Given the description of an element on the screen output the (x, y) to click on. 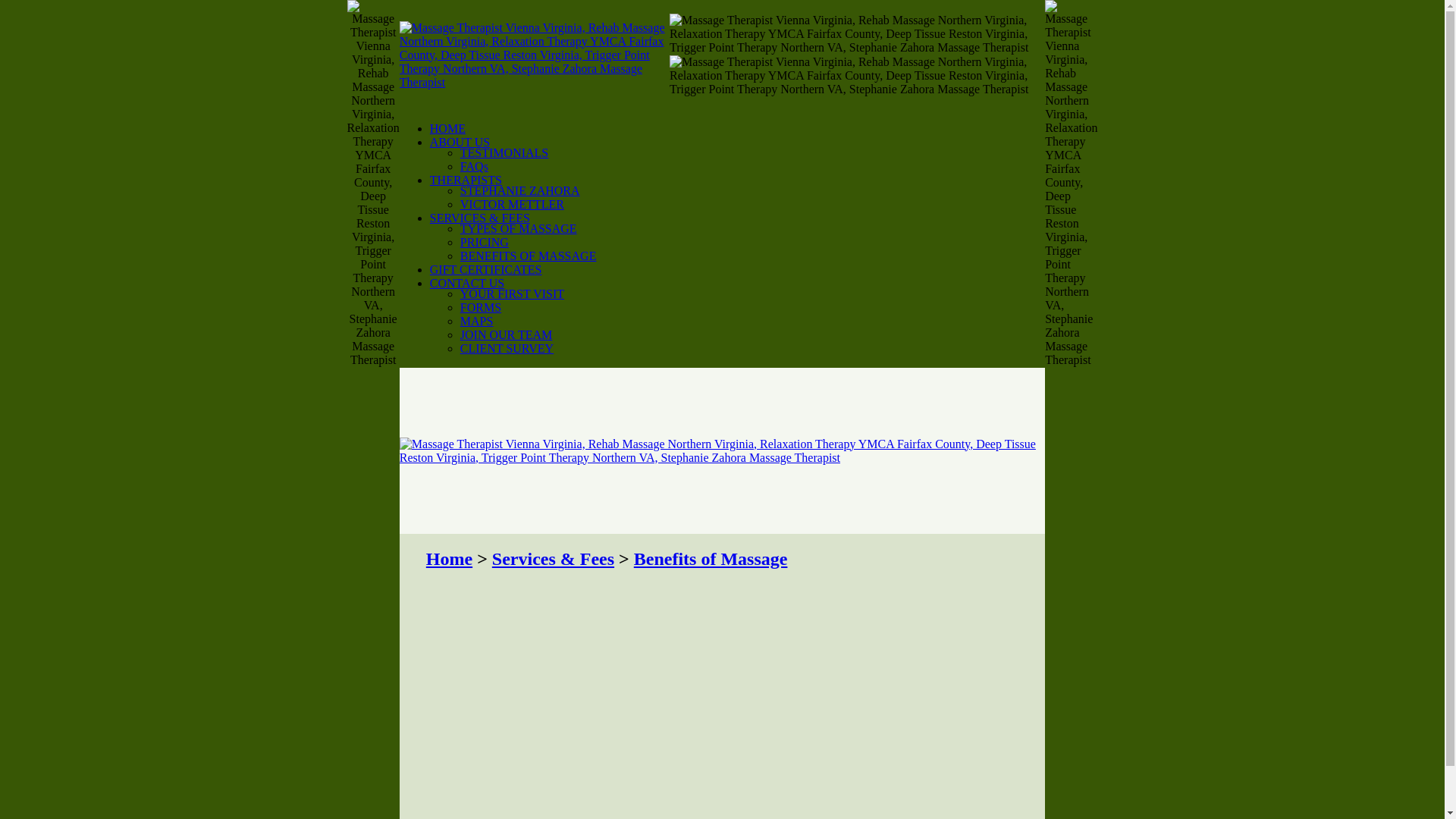
TYPES OF MASSAGE (518, 228)
TESTIMONIALS (504, 152)
MAPS (476, 320)
FAQs (473, 165)
GIFT CERTIFICATES (485, 269)
CLIENT SURVEY (506, 348)
Benefits of Massage (710, 558)
THERAPISTS (465, 179)
FORMS (480, 307)
PRICING (484, 241)
STEPHANIE ZAHORA (519, 190)
HOME (447, 128)
BENEFITS OF MASSAGE (528, 255)
Home (448, 558)
CONTACT US (466, 282)
